Given the description of an element on the screen output the (x, y) to click on. 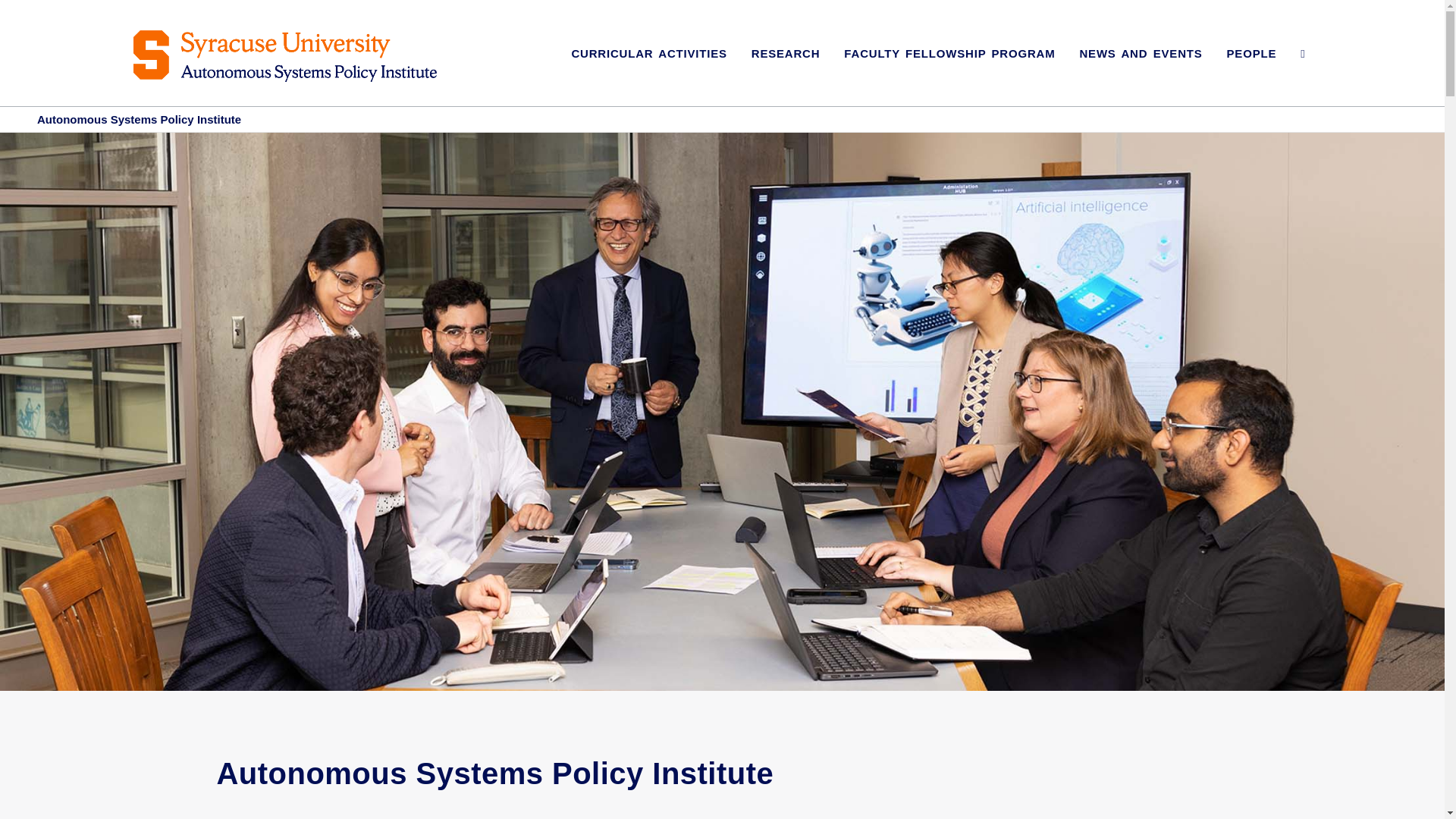
PEOPLE (1251, 69)
CURRICULAR ACTIVITIES (648, 69)
Autonomous Systems Policy Institute (139, 119)
RESEARCH (785, 69)
NEWS AND EVENTS (1140, 69)
FACULTY FELLOWSHIP PROGRAM (949, 69)
